Given the description of an element on the screen output the (x, y) to click on. 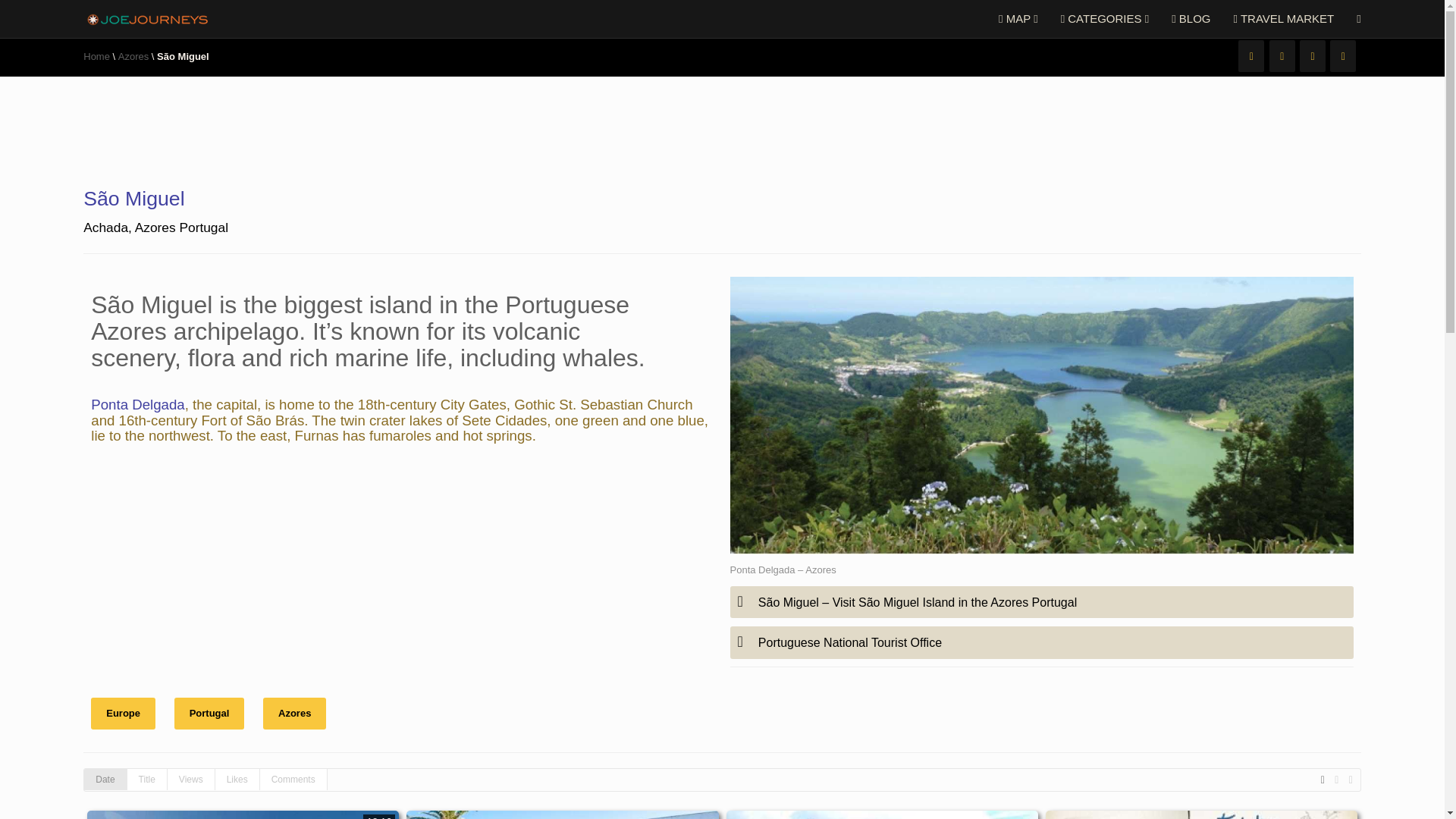
Ponta Delgada (137, 404)
MAP (1018, 18)
Portuguese National Tourist Office (1040, 642)
Azores (132, 56)
Azores (294, 713)
Date (105, 779)
Views (191, 779)
Portugal (209, 713)
BLOG (1190, 18)
Title (146, 779)
Likes (237, 779)
CATEGORIES (1104, 18)
Home (96, 56)
TRAVEL MARKET (1284, 18)
Europe (122, 713)
